Given the description of an element on the screen output the (x, y) to click on. 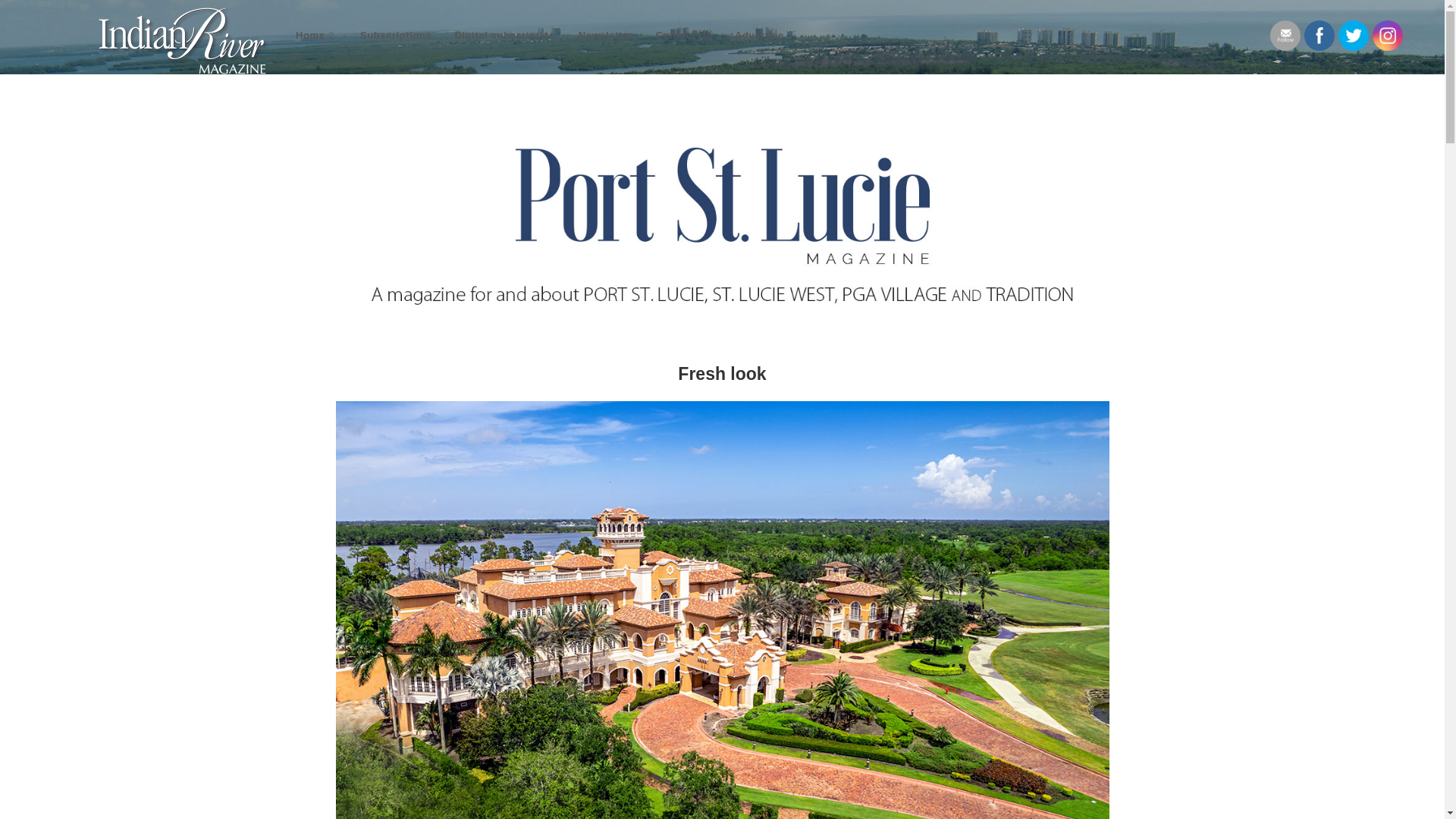
Twitter (1353, 35)
Digital subscription (504, 35)
Newsletter (606, 35)
Advertise (758, 35)
Subscriptions (395, 35)
Contact Us (683, 35)
Instagram (1387, 35)
Home (316, 35)
Follow by Email (1285, 35)
Facebook (1319, 35)
